Given the description of an element on the screen output the (x, y) to click on. 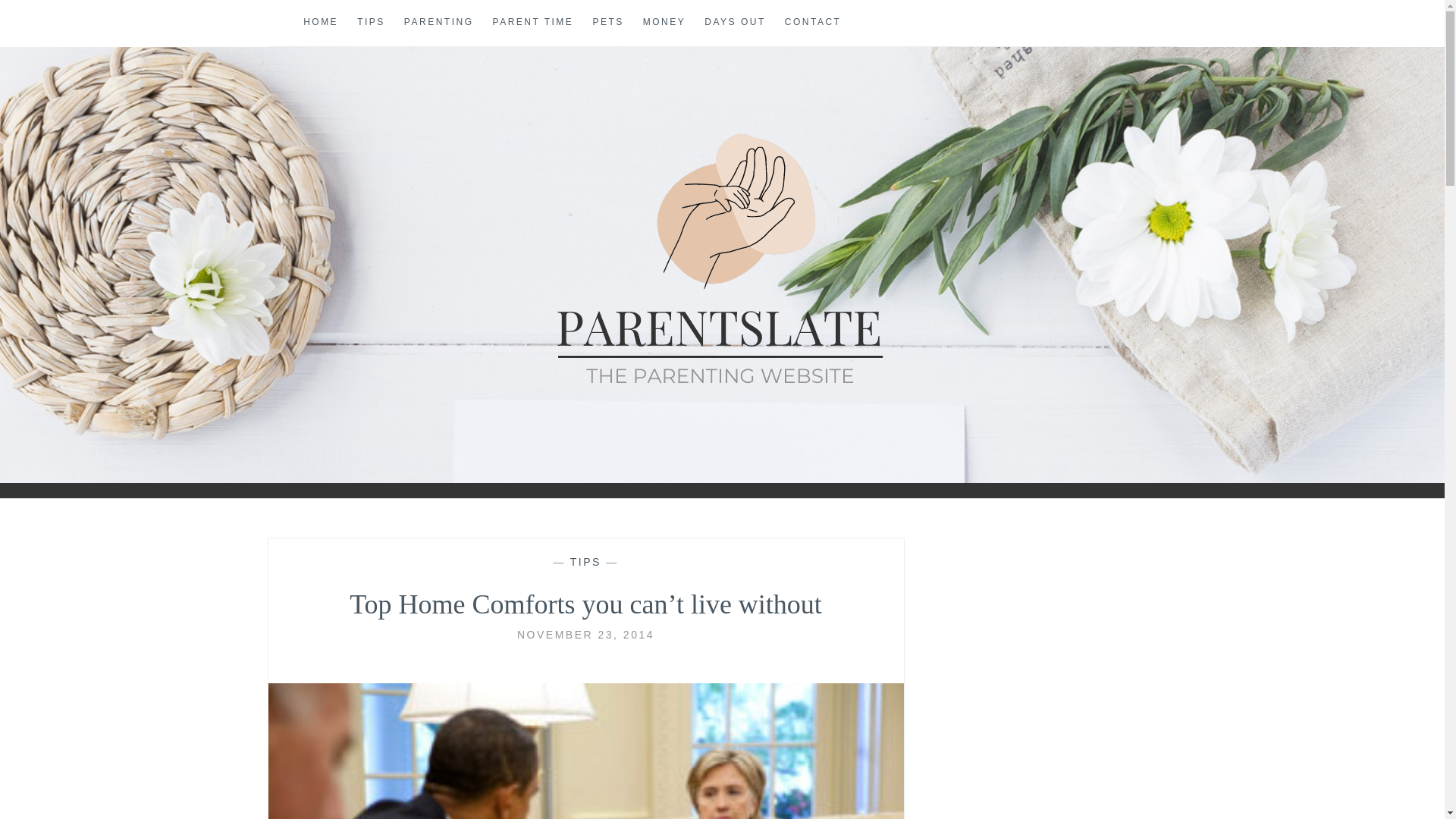
CONTACT (812, 22)
MONEY (664, 22)
HOME (319, 22)
PARENT SLATE (152, 425)
TIPS (370, 22)
PARENT TIME (533, 22)
PARENTING (439, 22)
DAYS OUT (734, 22)
PETS (607, 22)
TIPS (585, 562)
